Given the description of an element on the screen output the (x, y) to click on. 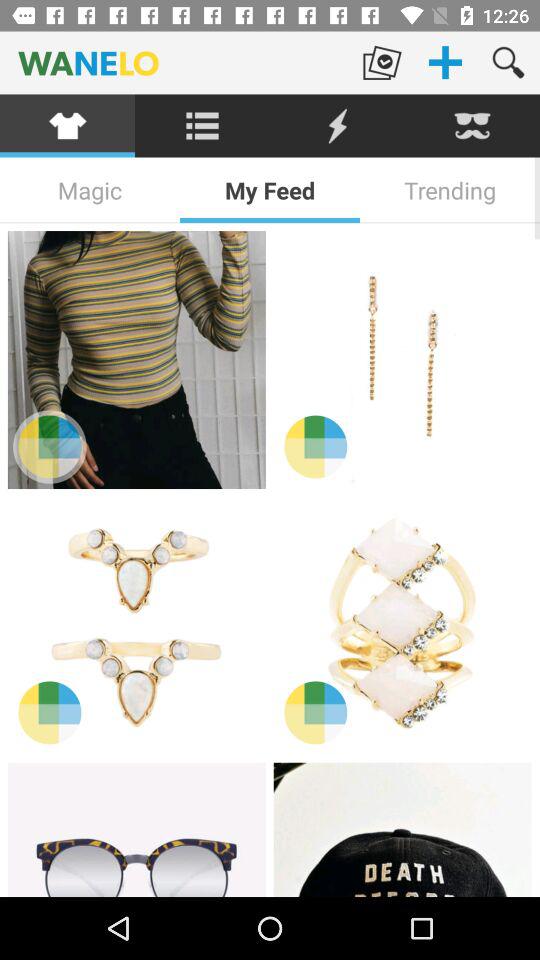
view item details (402, 625)
